Given the description of an element on the screen output the (x, y) to click on. 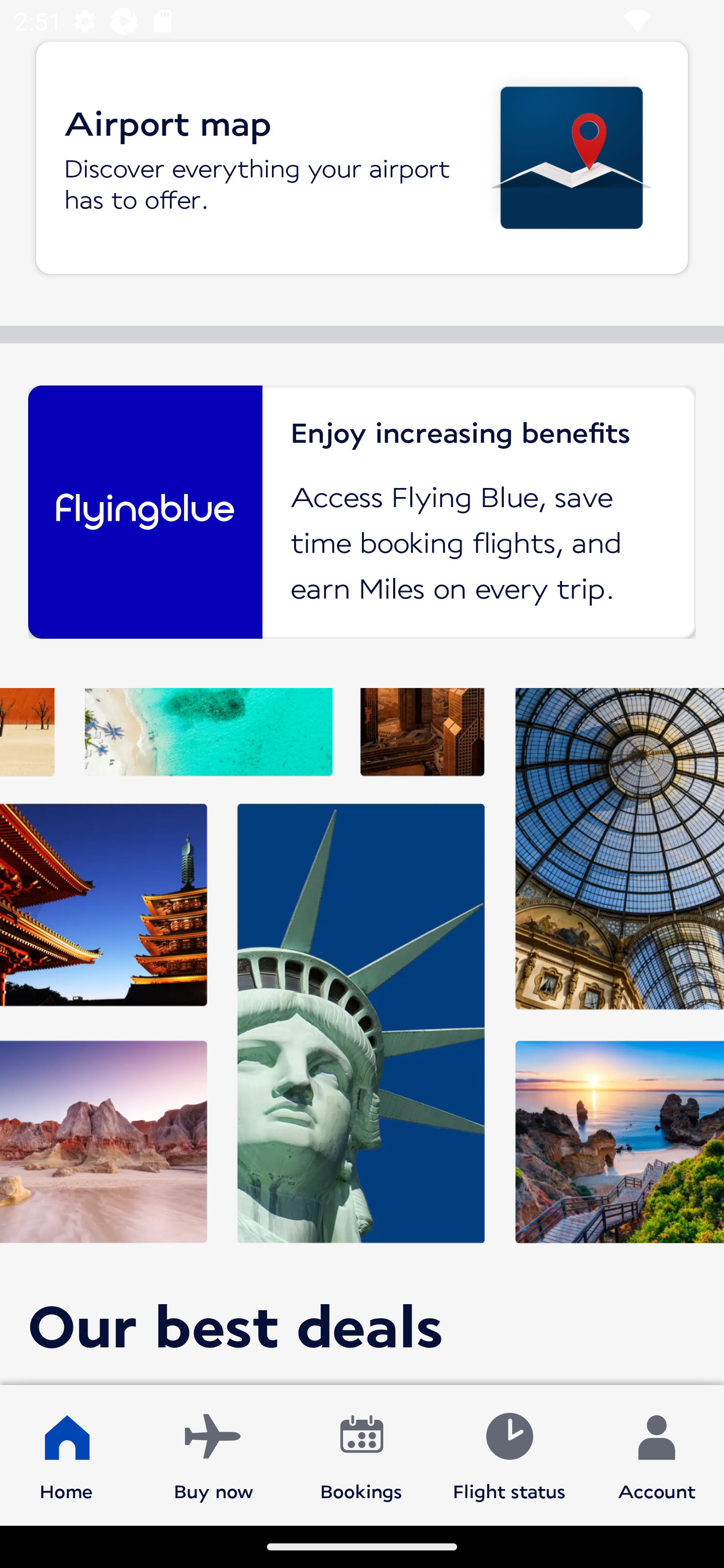
Our best deals (362, 1036)
Buy now (213, 1454)
Bookings (361, 1454)
Flight status (509, 1454)
Account (657, 1454)
